Given the description of an element on the screen output the (x, y) to click on. 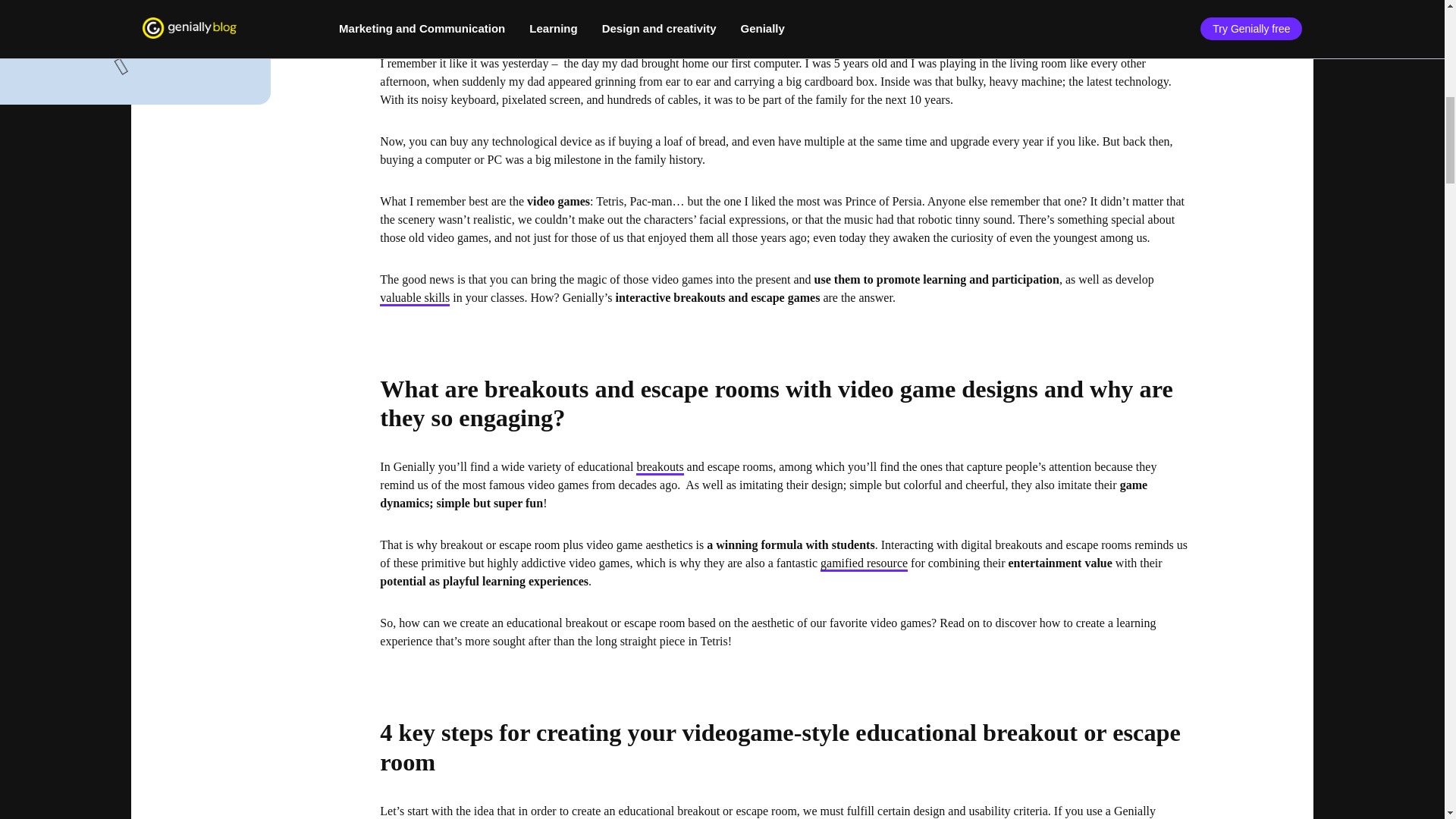
gamified resource (864, 563)
k12 (520, 12)
Gamification (429, 12)
valuable skills (414, 298)
breakouts (659, 467)
